Given the description of an element on the screen output the (x, y) to click on. 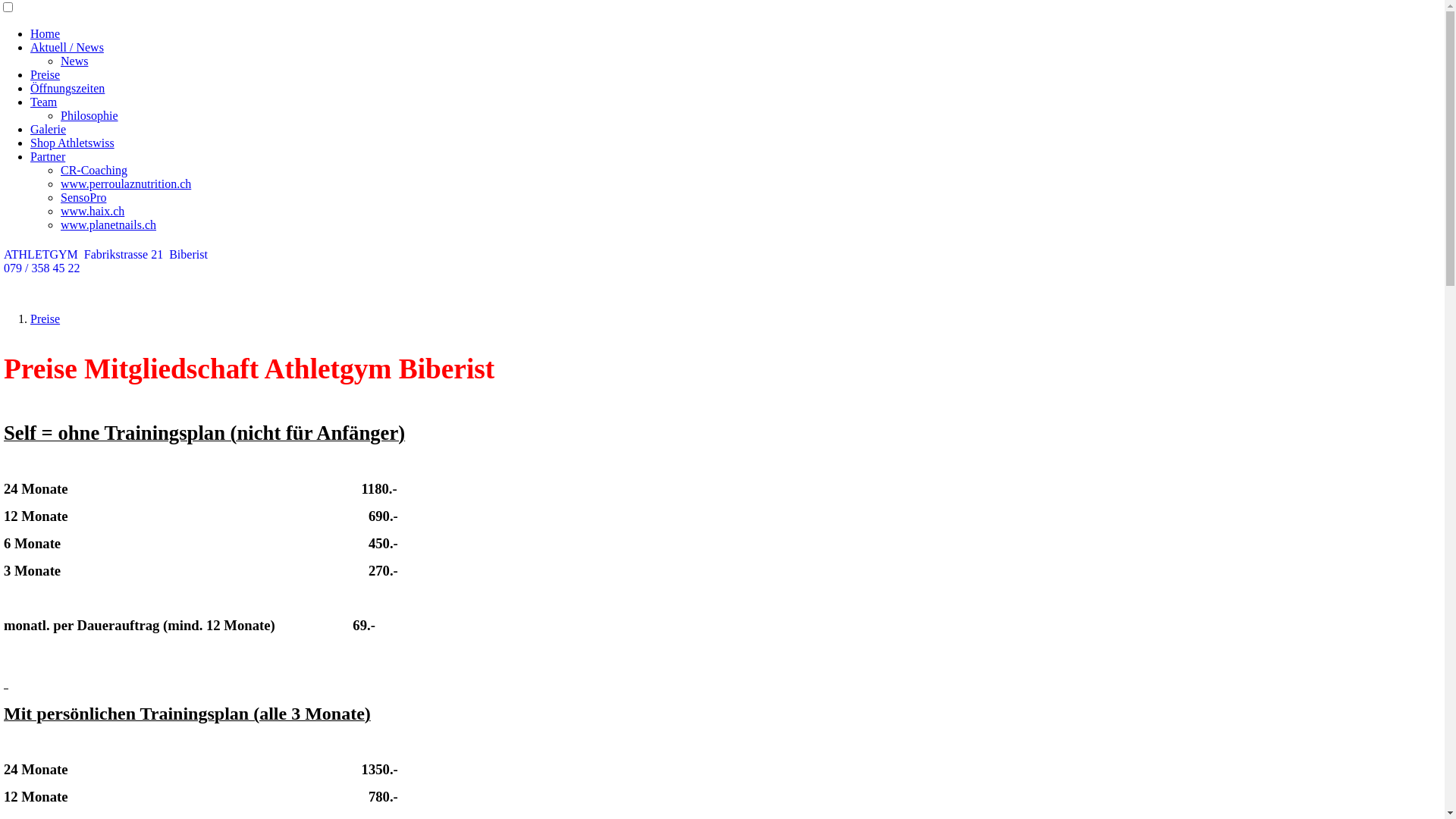
Partner Element type: text (47, 156)
SensoPro Element type: text (83, 197)
CR-Coaching Element type: text (93, 169)
www.planetnails.ch Element type: text (108, 224)
Galerie Element type: text (47, 128)
www.haix.ch Element type: text (92, 210)
Preise Element type: text (44, 318)
Preise Element type: text (44, 74)
News Element type: text (73, 60)
Shop Athletswiss Element type: text (72, 142)
Home Element type: text (44, 33)
ATHLETGYM  Fabrikstrasse 21  Biberist
079 / 358 45 22 Element type: text (721, 261)
Philosophie Element type: text (89, 115)
Aktuell / News Element type: text (66, 46)
www.perroulaznutrition.ch Element type: text (125, 183)
Team Element type: text (43, 101)
